Given the description of an element on the screen output the (x, y) to click on. 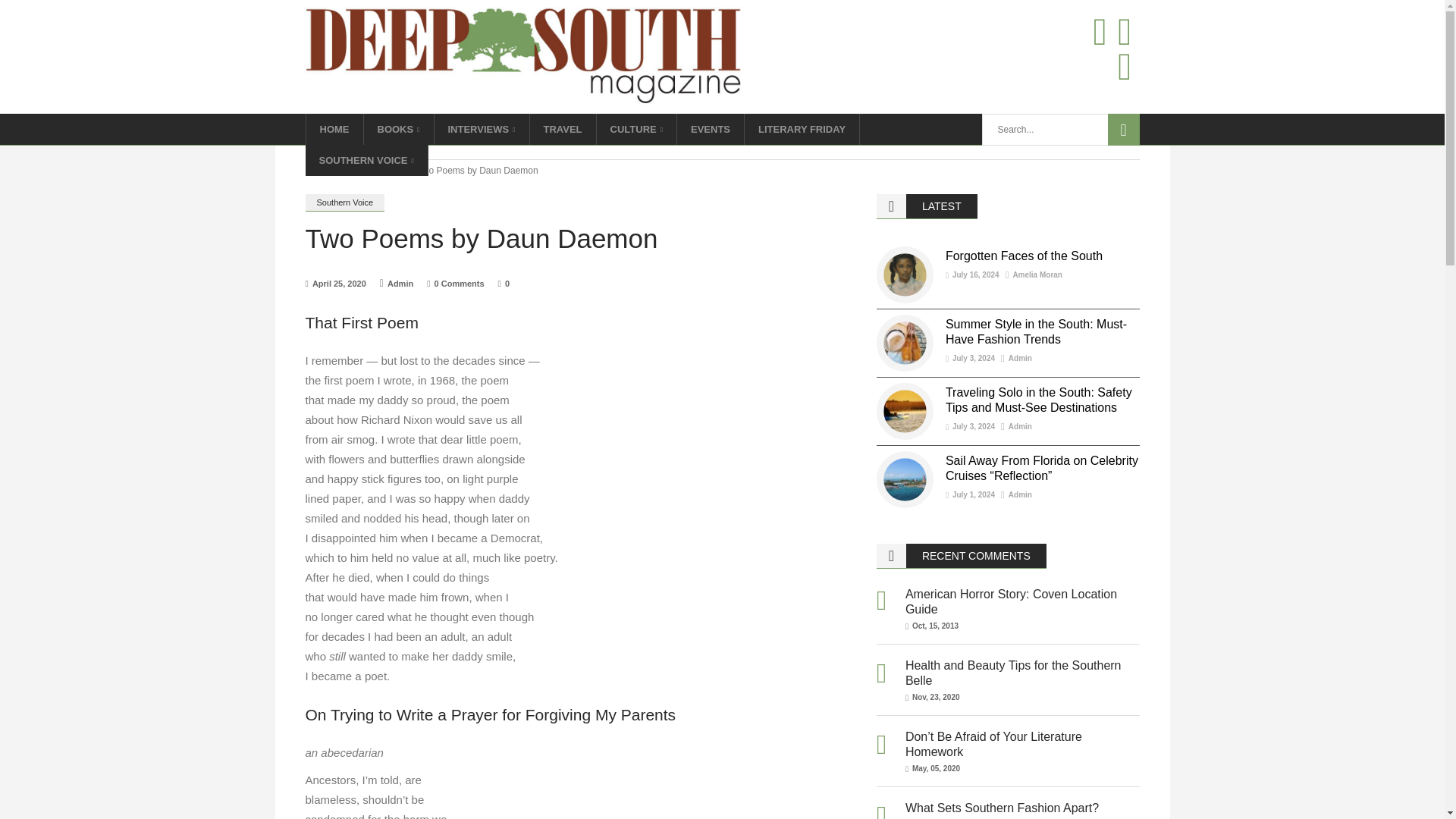
Search (1122, 129)
BOOKS (398, 128)
TRAVEL (562, 128)
SOUTHERN VOICE (366, 160)
Like this (504, 283)
INTERVIEWS (481, 128)
CULTURE (636, 128)
HOME (333, 128)
EVENTS (710, 128)
LITERARY FRIDAY (802, 128)
